Given the description of an element on the screen output the (x, y) to click on. 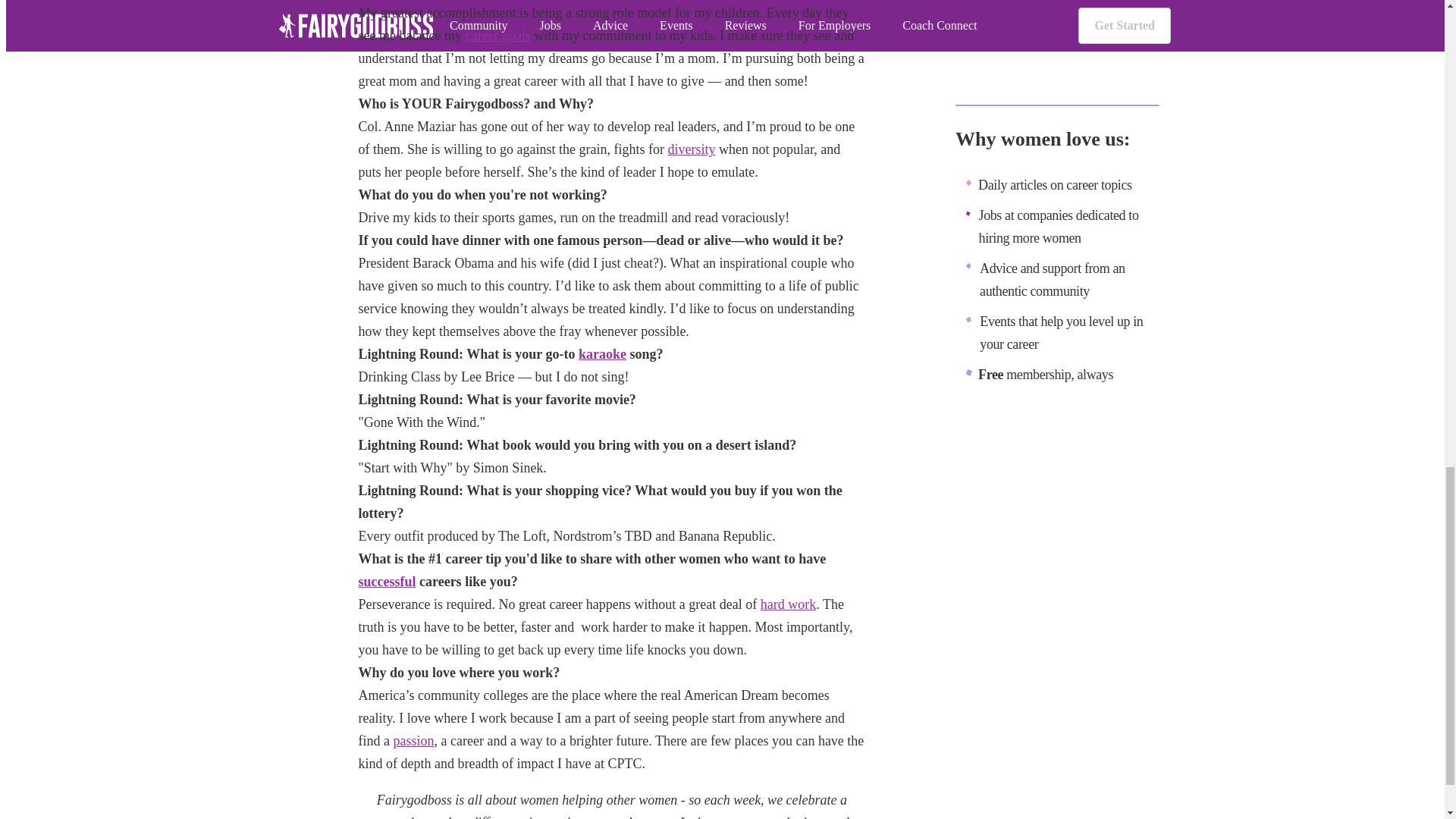
passion (413, 740)
successful (386, 581)
career goals (496, 35)
karaoke (602, 353)
hard work (787, 604)
diversity (690, 149)
